Given the description of an element on the screen output the (x, y) to click on. 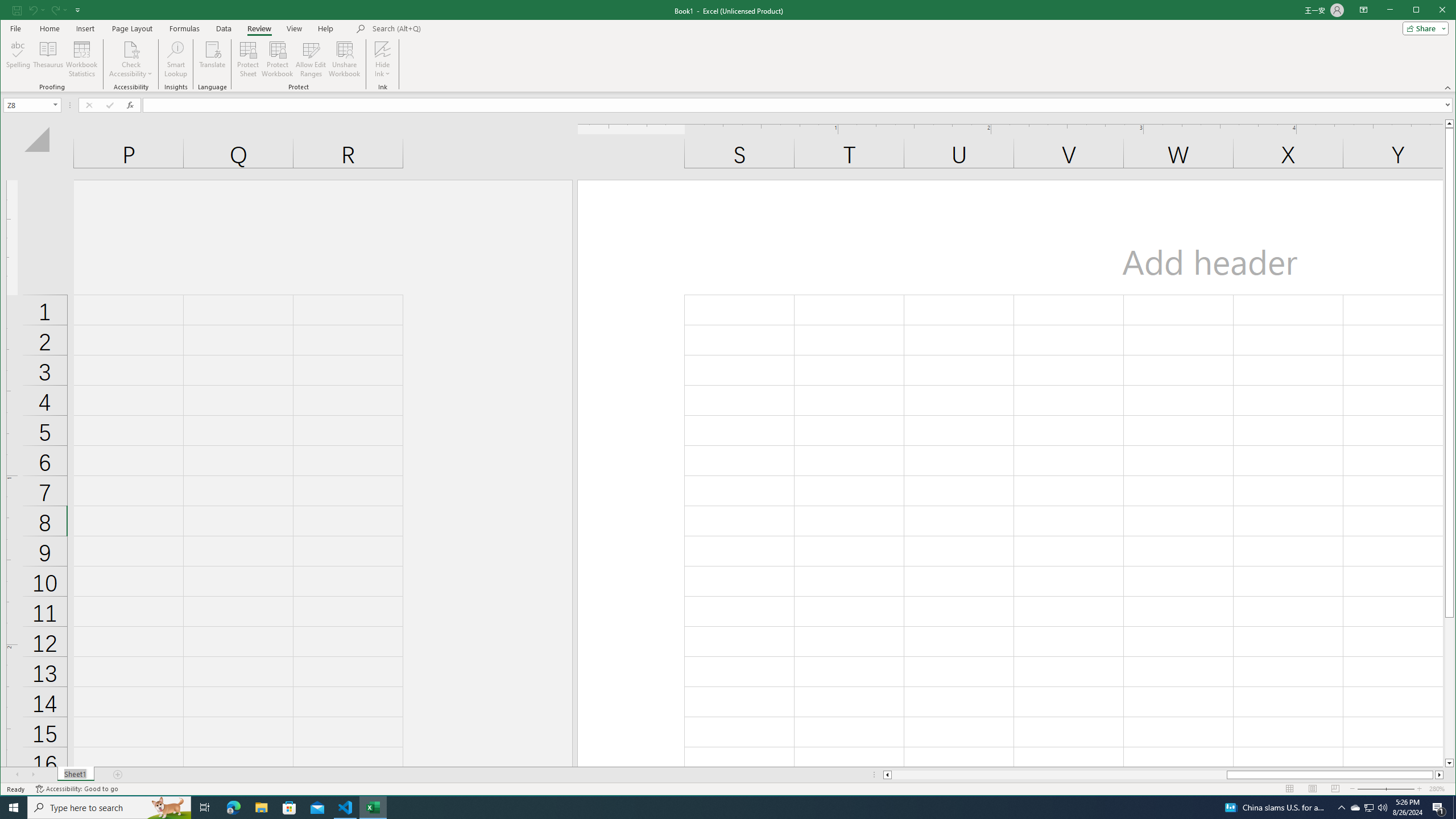
Running applications (717, 807)
Protect Workbook... (277, 59)
Task View (204, 807)
User Promoted Notification Area (1368, 807)
Action Center, 1 new notification (1439, 807)
Formula Bar (799, 104)
Maximize (1432, 11)
Smart Lookup (176, 59)
